Given the description of an element on the screen output the (x, y) to click on. 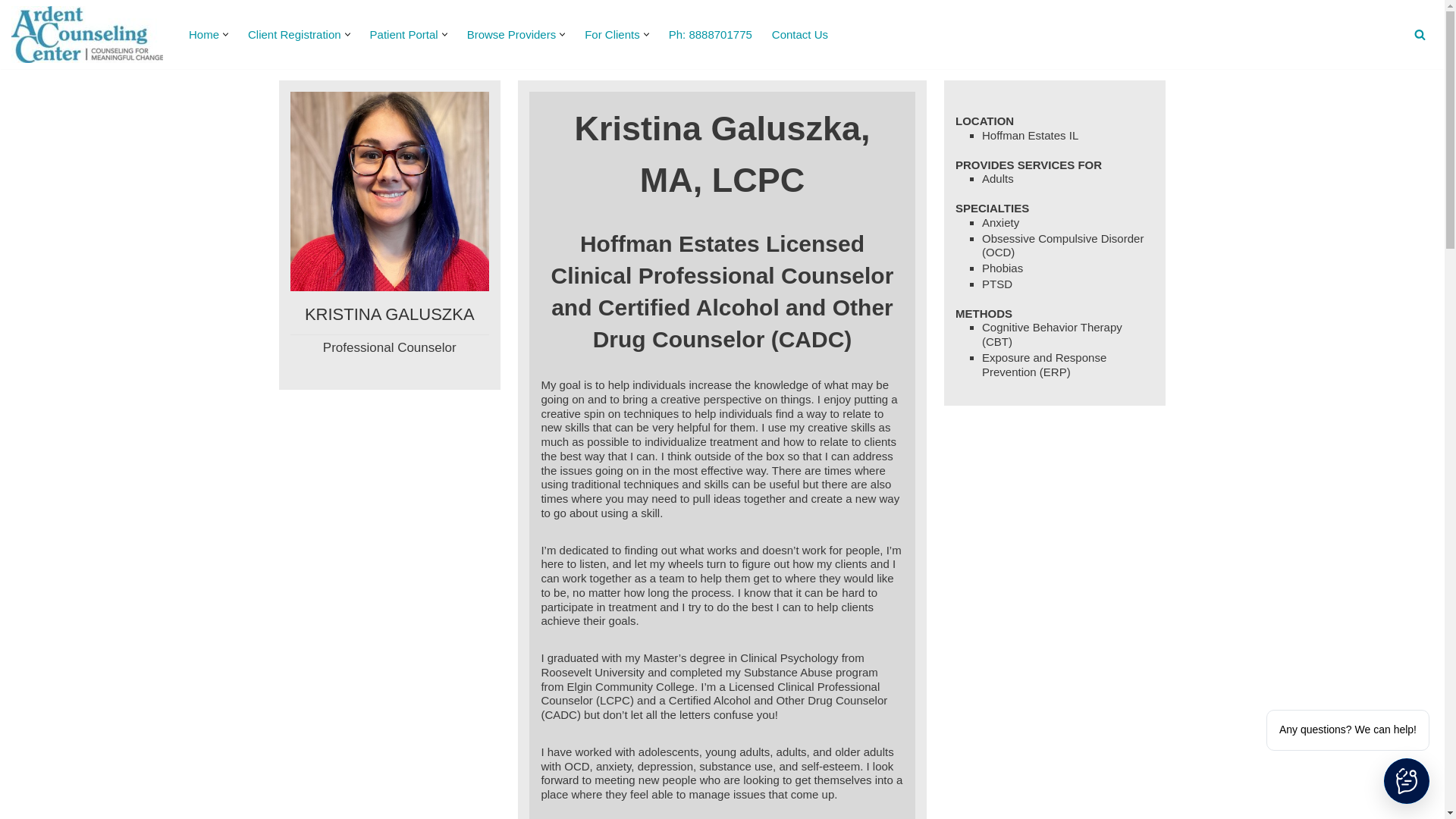
Browse Providers (511, 34)
Patient Portal (403, 34)
Skip to content (11, 31)
For Clients (612, 34)
Home (204, 34)
Client Registration (293, 34)
